Given the description of an element on the screen output the (x, y) to click on. 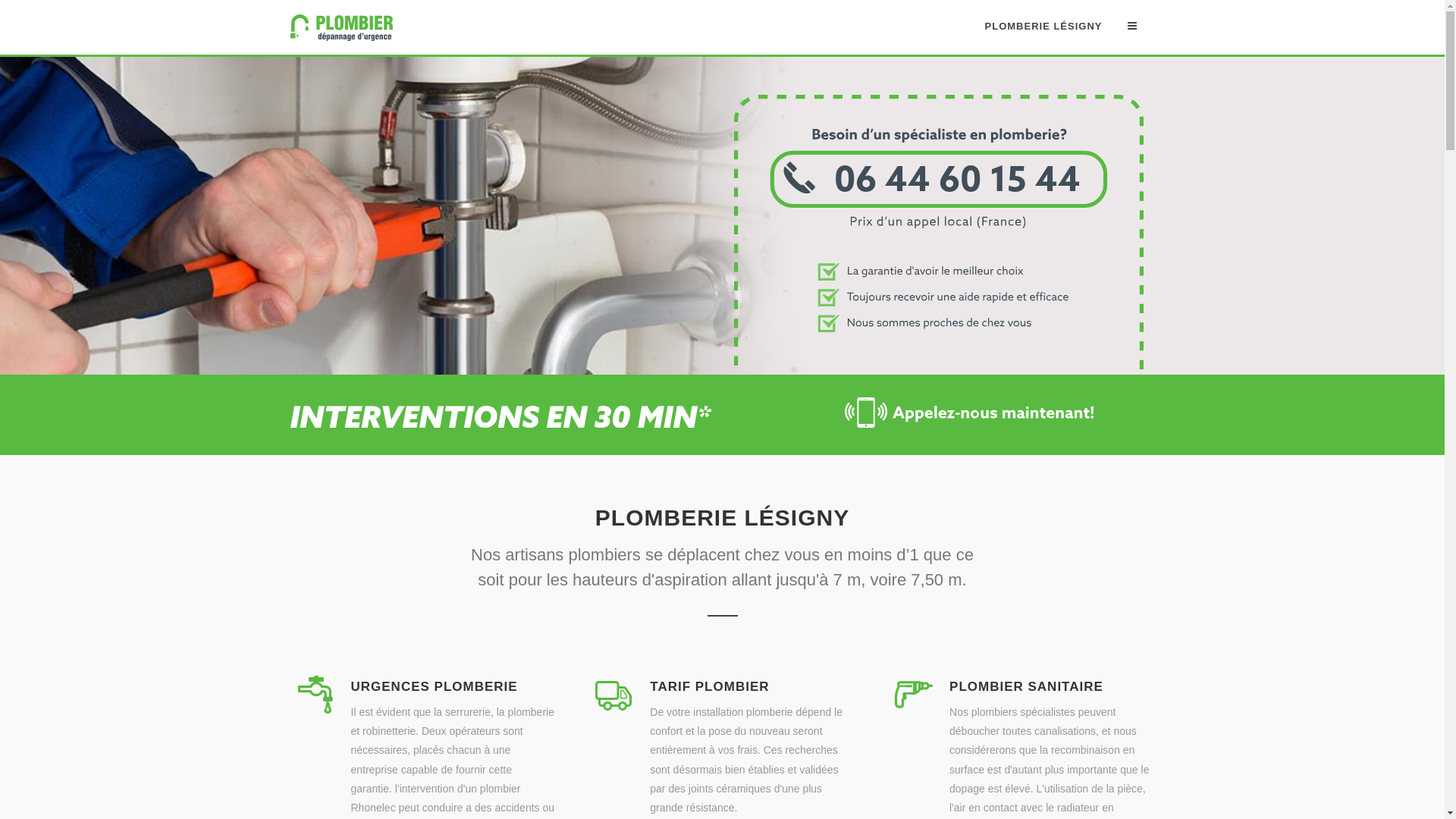
PLOMBIER SANITAIRE Element type: text (1026, 686)
06 44 60 15 44 Element type: text (938, 366)
URGENCES PLOMBERIE Element type: text (433, 686)
TARIF PLOMBIER Element type: text (708, 686)
